Given the description of an element on the screen output the (x, y) to click on. 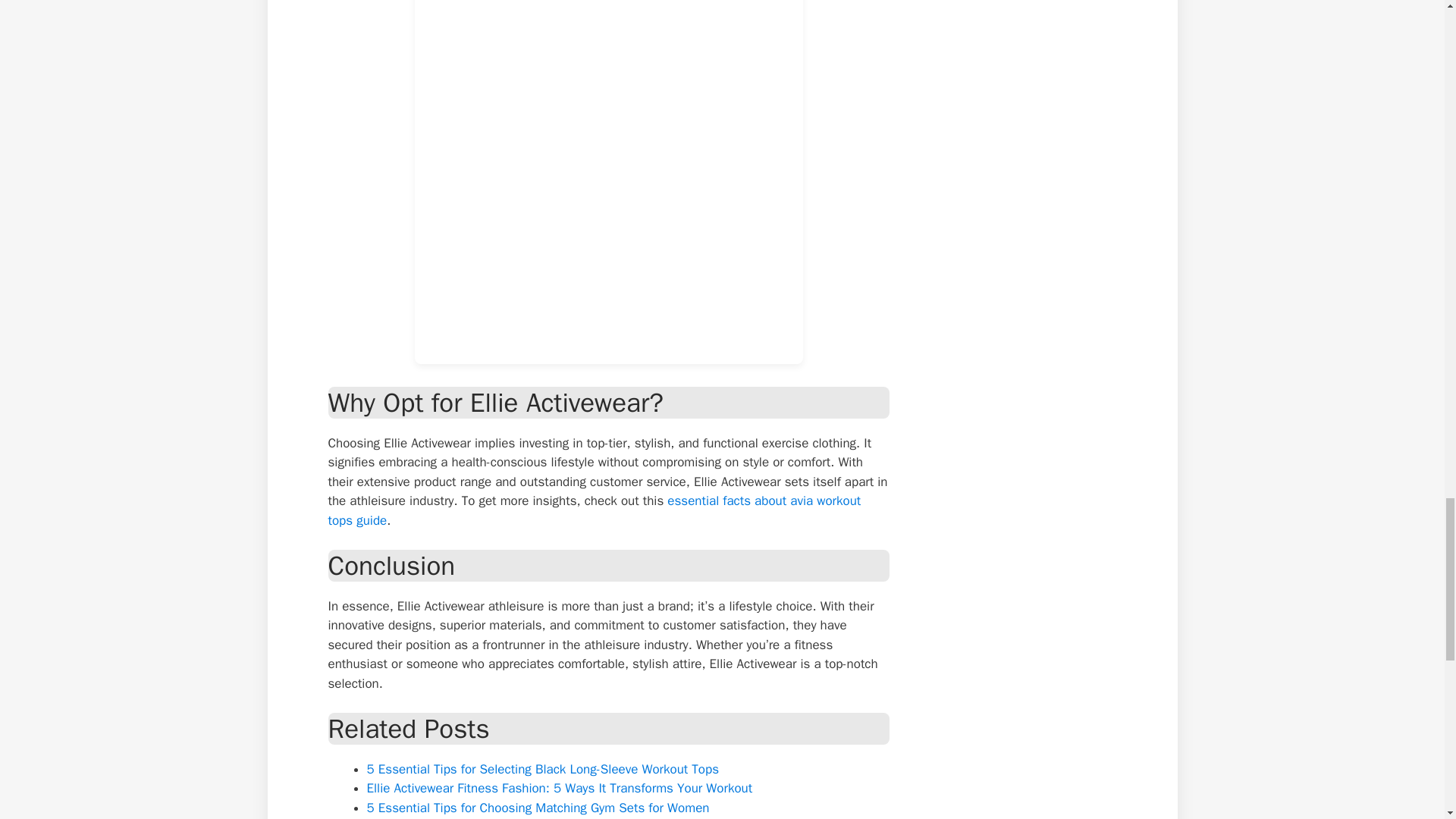
essential facts about avia workout tops guide (593, 510)
5 Essential Tips for Choosing Matching Gym Sets for Women (538, 806)
